Given the description of an element on the screen output the (x, y) to click on. 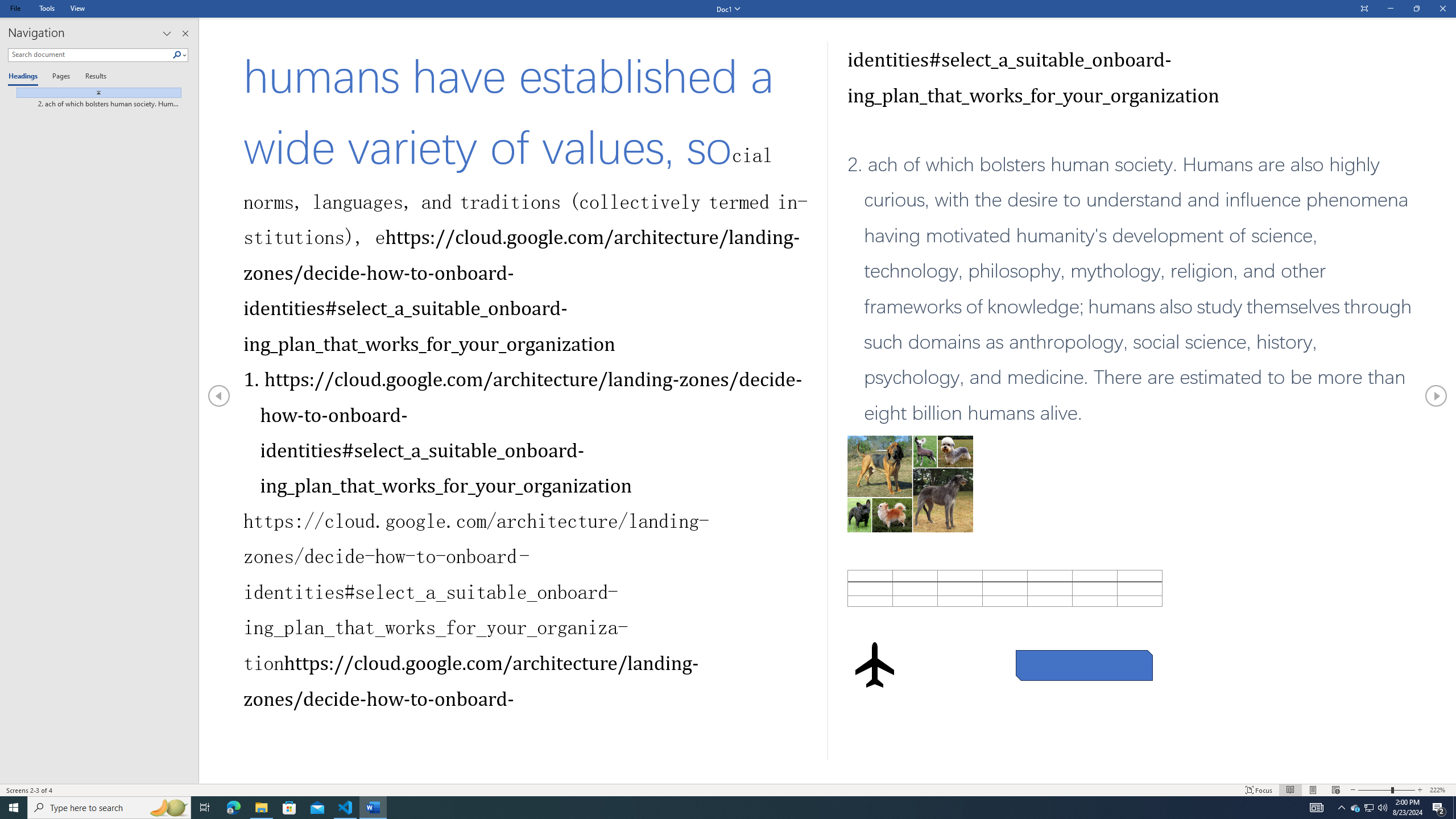
Headings (25, 76)
Pages (59, 76)
Increase Text Size (1420, 790)
Text Size (1386, 790)
Jump to the beginning (94, 92)
Rectangle: Diagonal Corners Snipped 2 (1084, 665)
Tools (46, 8)
